Given the description of an element on the screen output the (x, y) to click on. 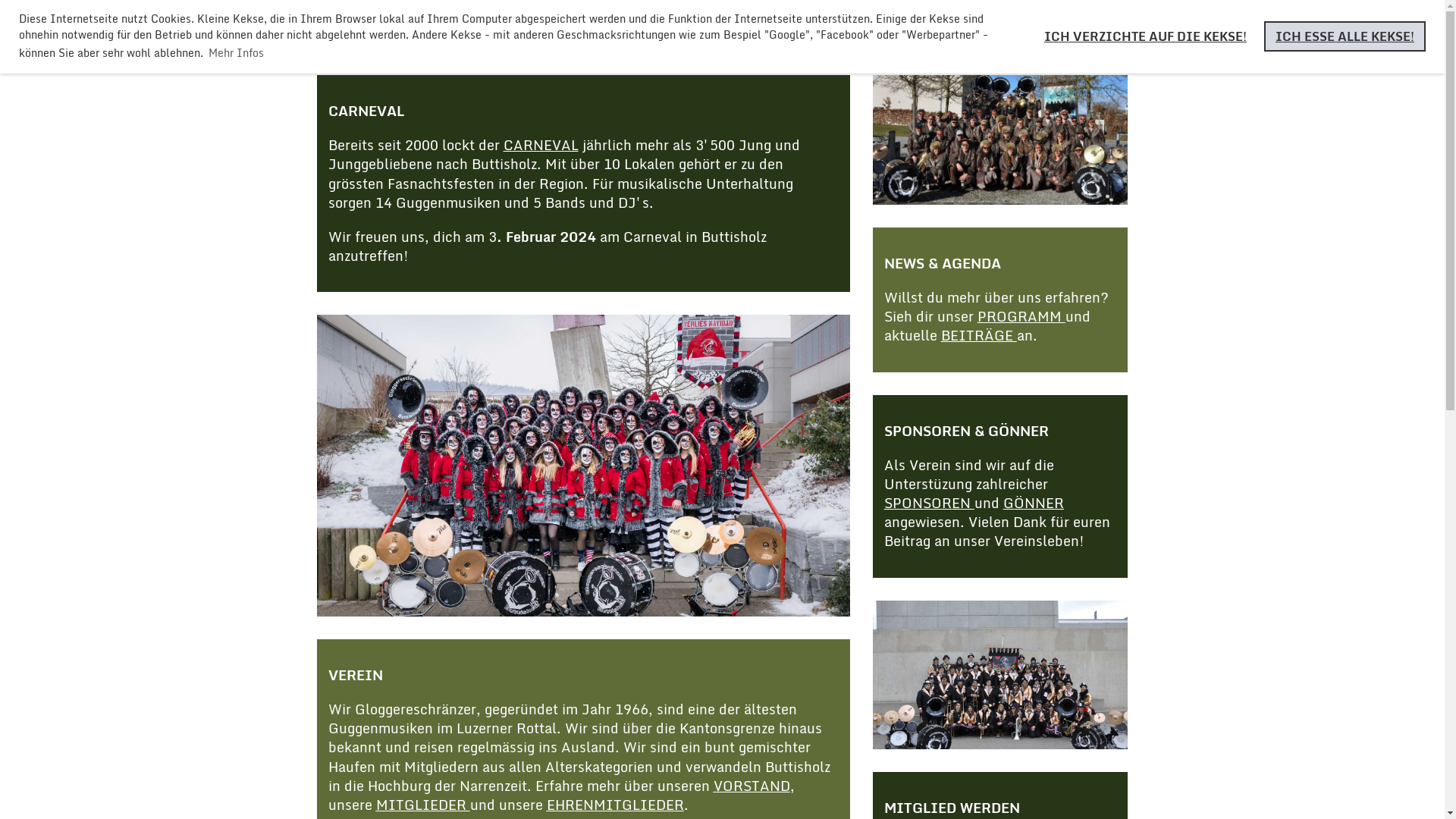
ICH ESSE ALLE KEKSE! Element type: text (1344, 36)
CARNEVAL Element type: text (540, 144)
Mehr Infos Element type: text (236, 52)
EHRENMITGLIEDER Element type: text (614, 804)
MITGLIEDER Element type: text (423, 804)
PROGRAMM  Element type: text (1021, 315)
SPONSOREN Element type: text (929, 502)
VORSTAND Element type: text (750, 785)
ICH VERZICHTE AUF DIE KEKSE! Element type: text (1145, 36)
